Given the description of an element on the screen output the (x, y) to click on. 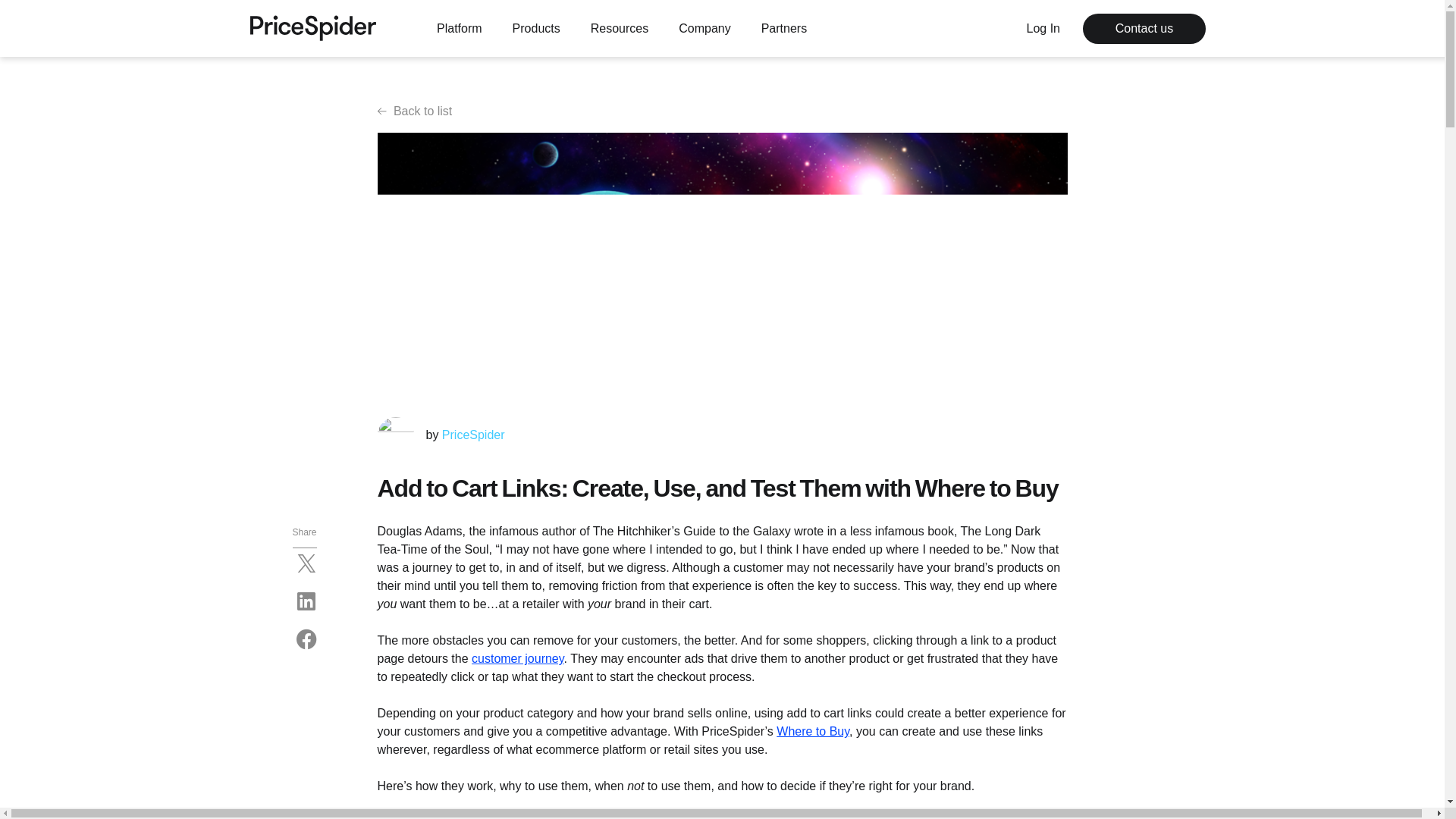
Click to share on X (306, 563)
Click to share on Facebook (306, 639)
Posts by PriceSpider (473, 434)
Resources (619, 28)
Click to share on LinkedIn (306, 600)
Company (704, 28)
Contact us (1144, 28)
